Given the description of an element on the screen output the (x, y) to click on. 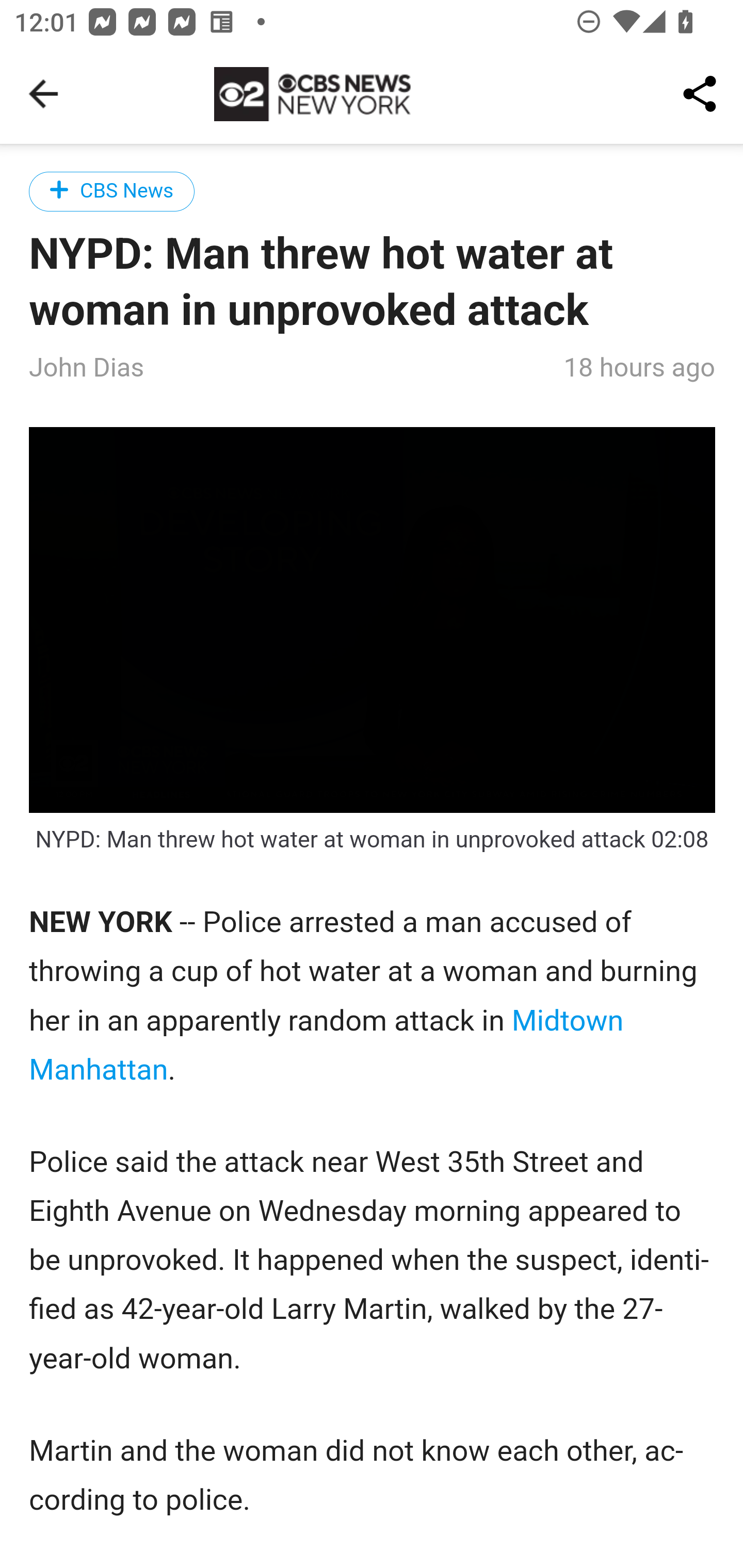
CBS News (112, 191)
Midtown Manhattan (326, 1045)
